Given the description of an element on the screen output the (x, y) to click on. 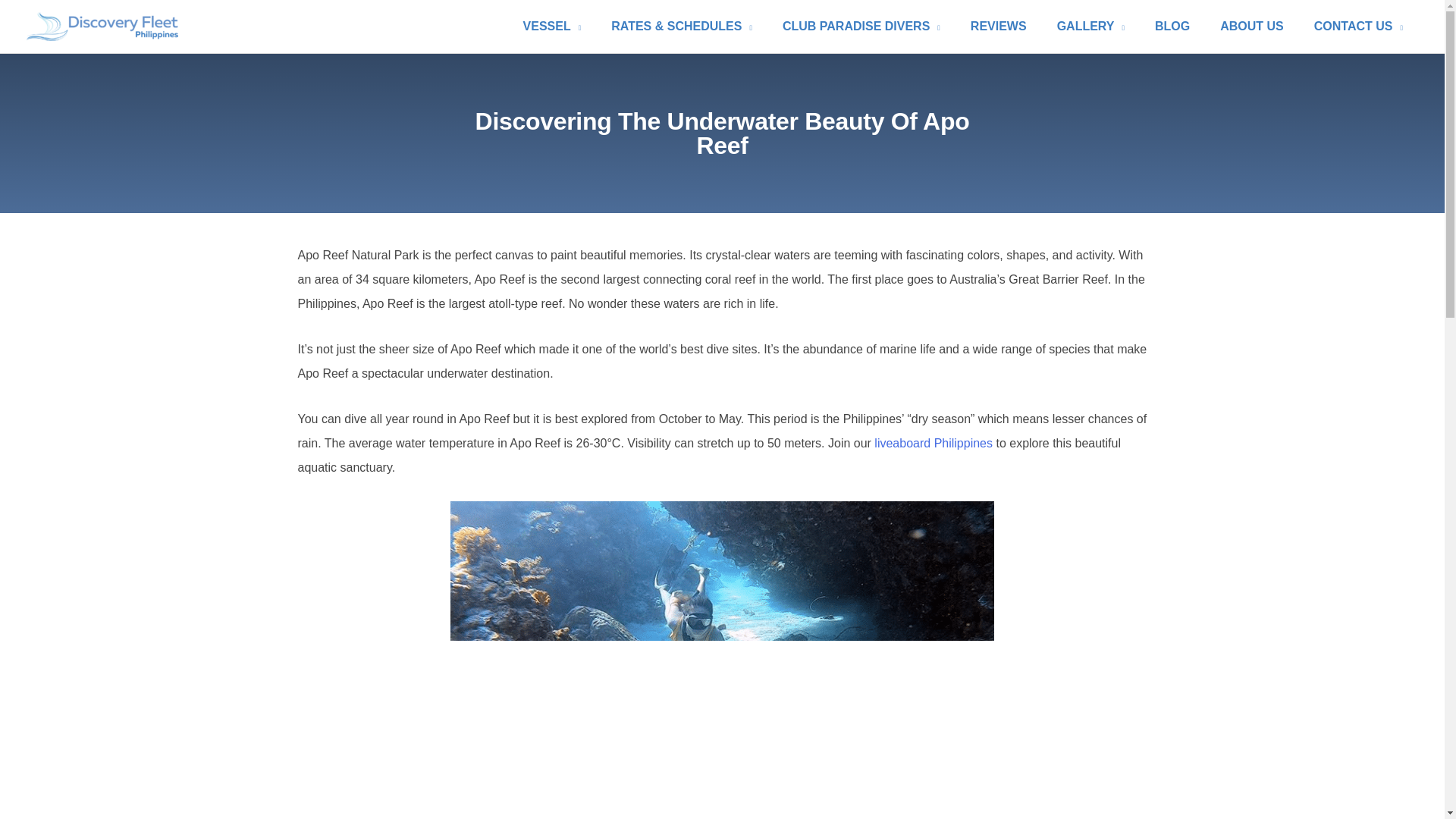
CONTACT US (1358, 26)
ABOUT US (1251, 26)
REVIEWS (998, 26)
CLUB PARADISE DIVERS (861, 26)
GALLERY (1091, 26)
BLOG (1172, 26)
VESSEL (552, 26)
